Given the description of an element on the screen output the (x, y) to click on. 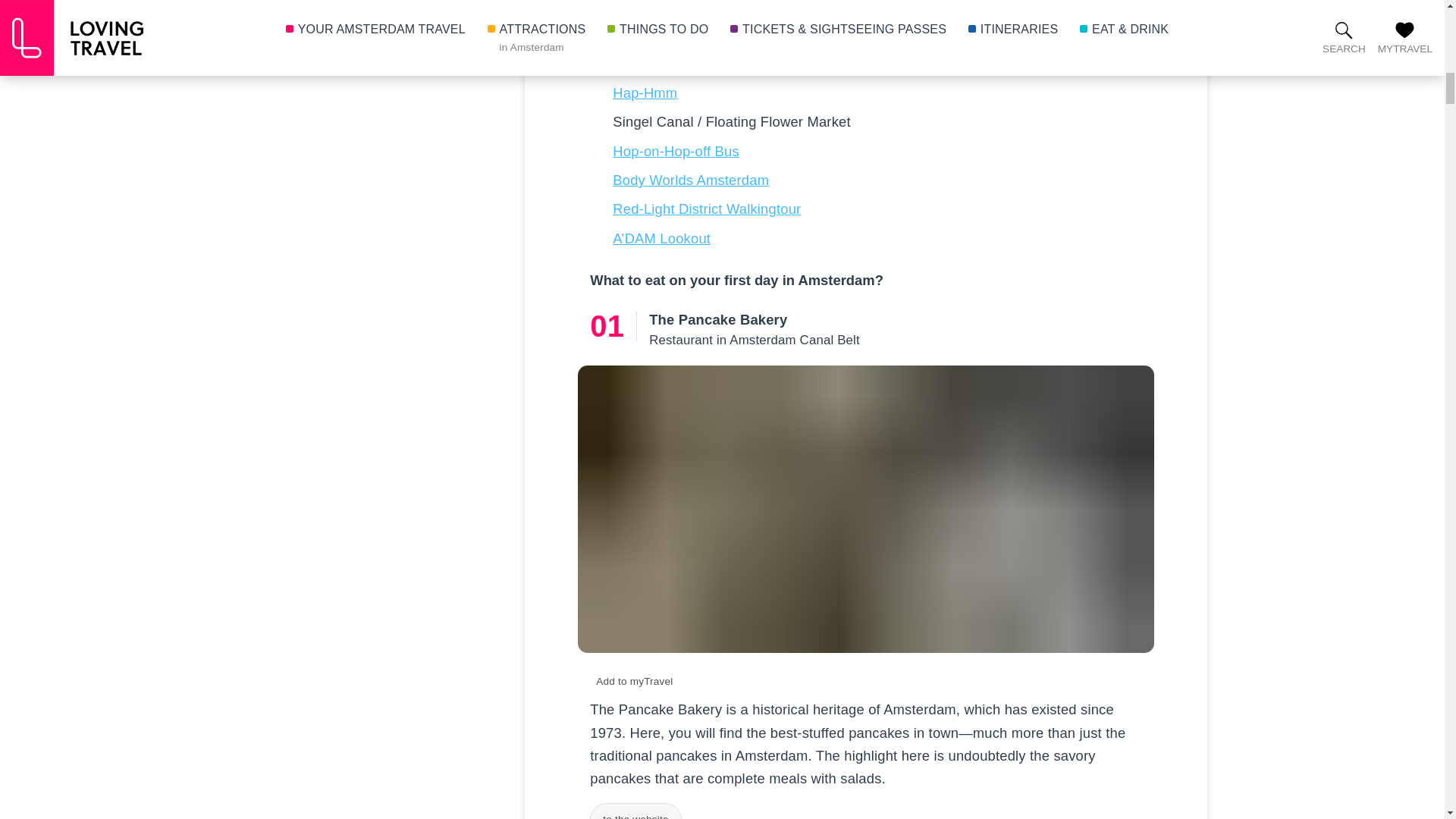
Hop-on-Hop-off Bus (675, 150)
Body Worlds Amsterdam (690, 179)
Red-Light District Walkingtour (706, 208)
A'DAM Lookout (661, 238)
